Given the description of an element on the screen output the (x, y) to click on. 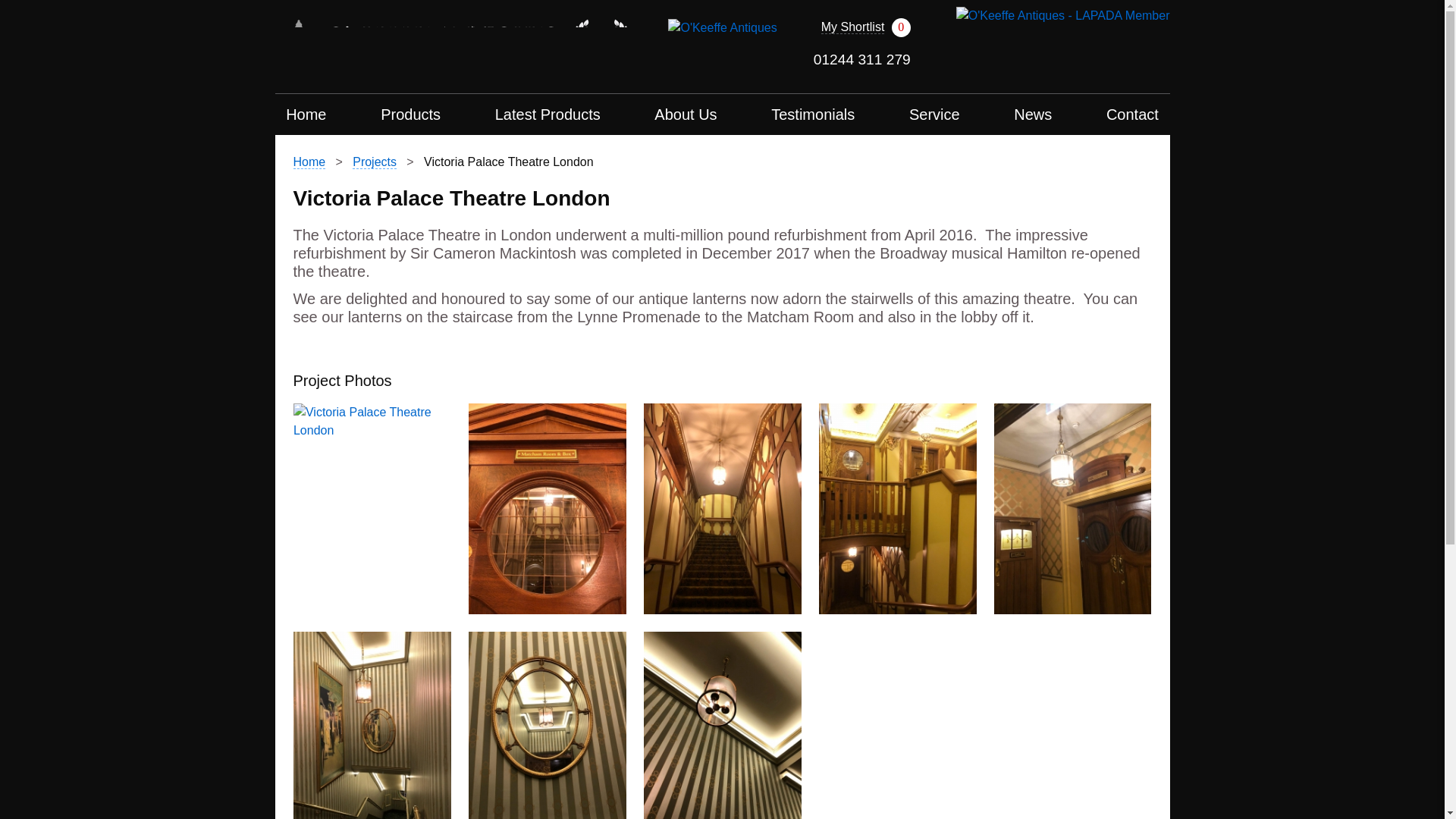
Service (934, 114)
Projects (374, 161)
Home (308, 161)
My Shortlist (853, 27)
Testimonials (812, 114)
Home (306, 114)
O'Keeffe Antiques - LAPADA Member (1063, 14)
Latest Products (547, 114)
Delivery Information (722, 26)
About Us (685, 114)
